Given the description of an element on the screen output the (x, y) to click on. 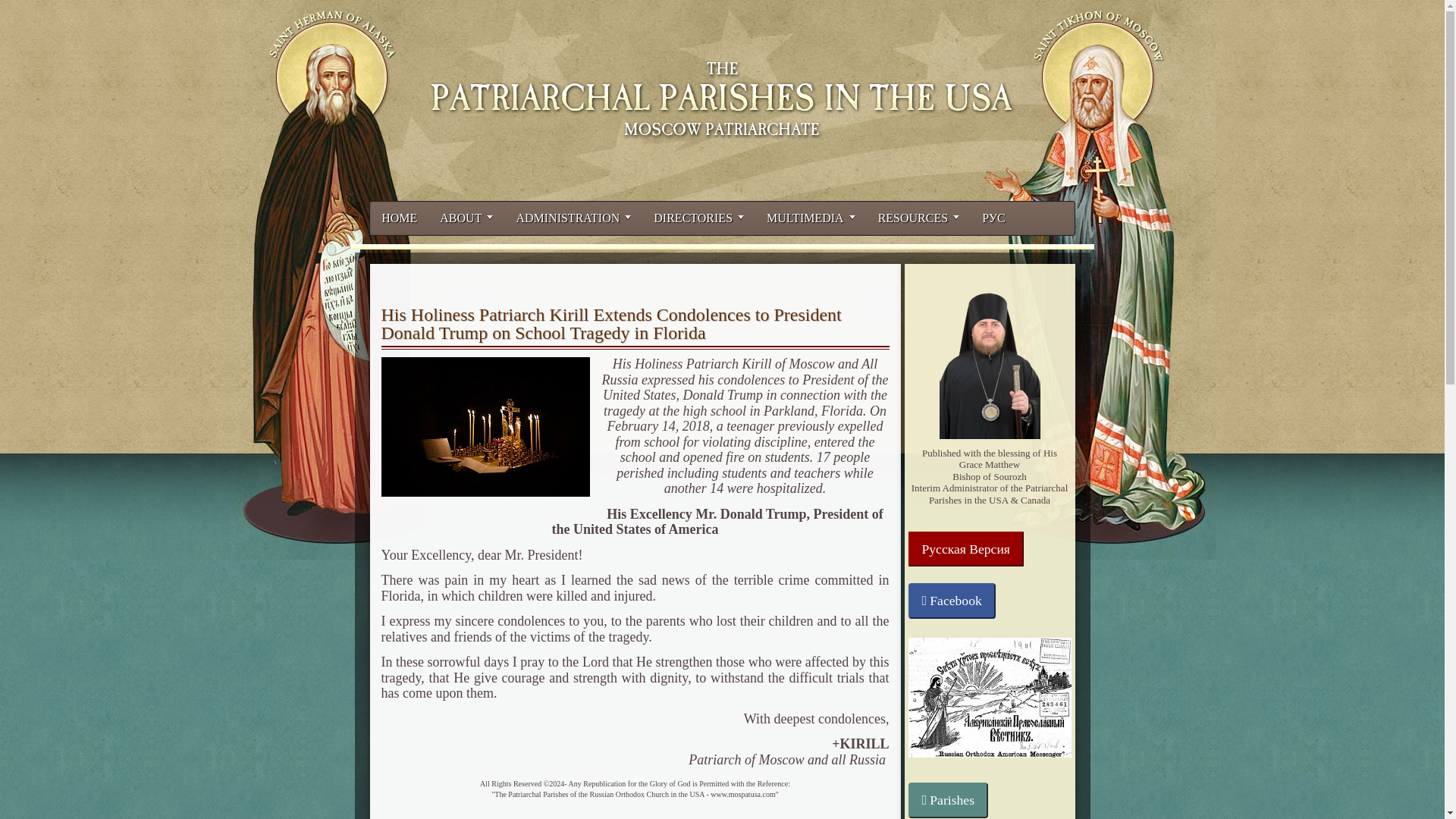
ABOUT (465, 218)
MULTIMEDIA (810, 218)
Facebook (951, 600)
DIRECTORIES (698, 218)
ADMINISTRATION (572, 218)
RESOURCES (918, 218)
HOME (398, 218)
